Given the description of an element on the screen output the (x, y) to click on. 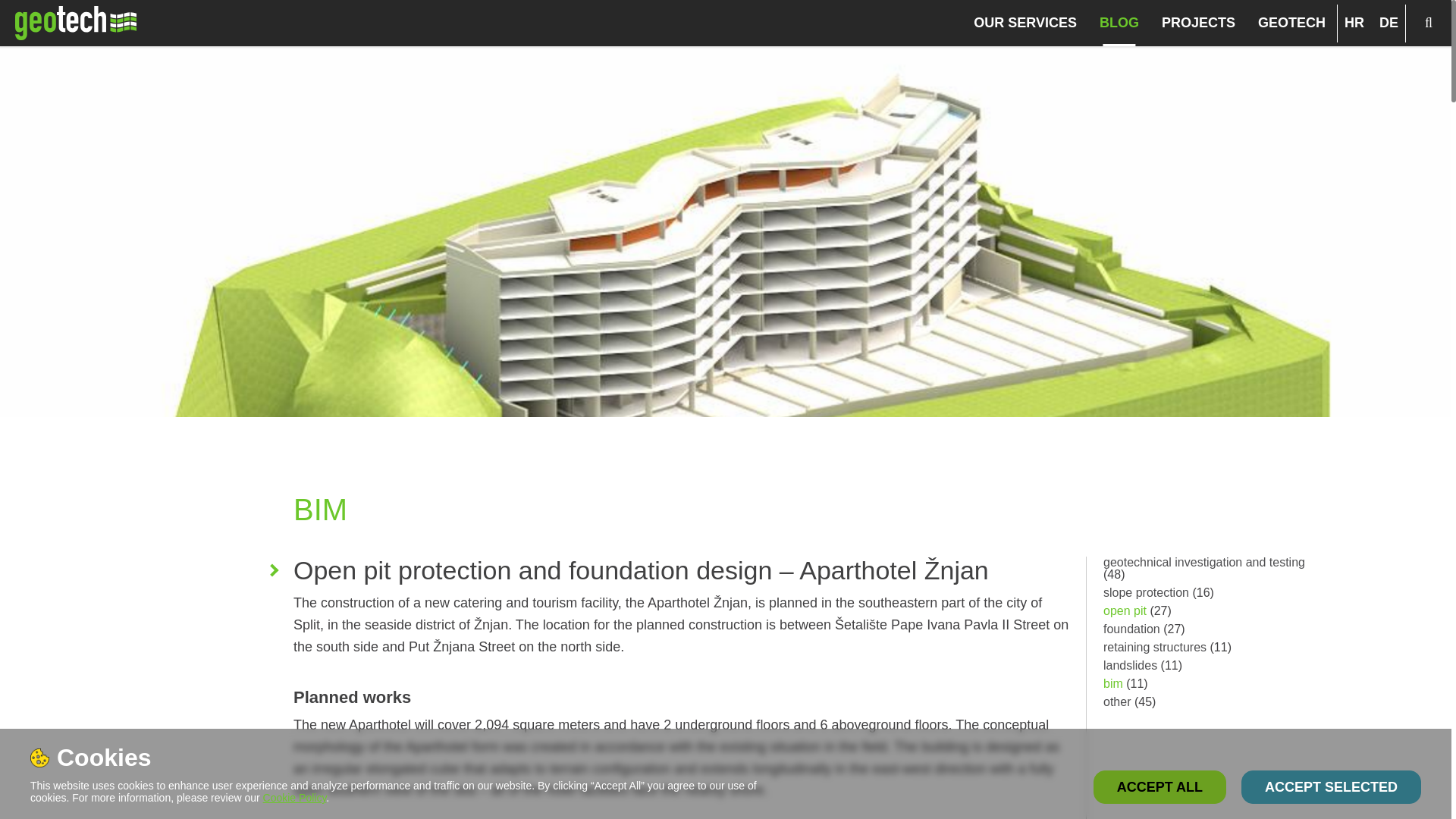
slope protection (1146, 592)
GEOTECH (1291, 22)
PROJECTS (1198, 22)
DE (1388, 22)
HR (1353, 22)
BLOG (1119, 22)
OUR SERVICES (1025, 22)
open pit (1125, 610)
geotechnical investigation and testing (1203, 562)
